Given the description of an element on the screen output the (x, y) to click on. 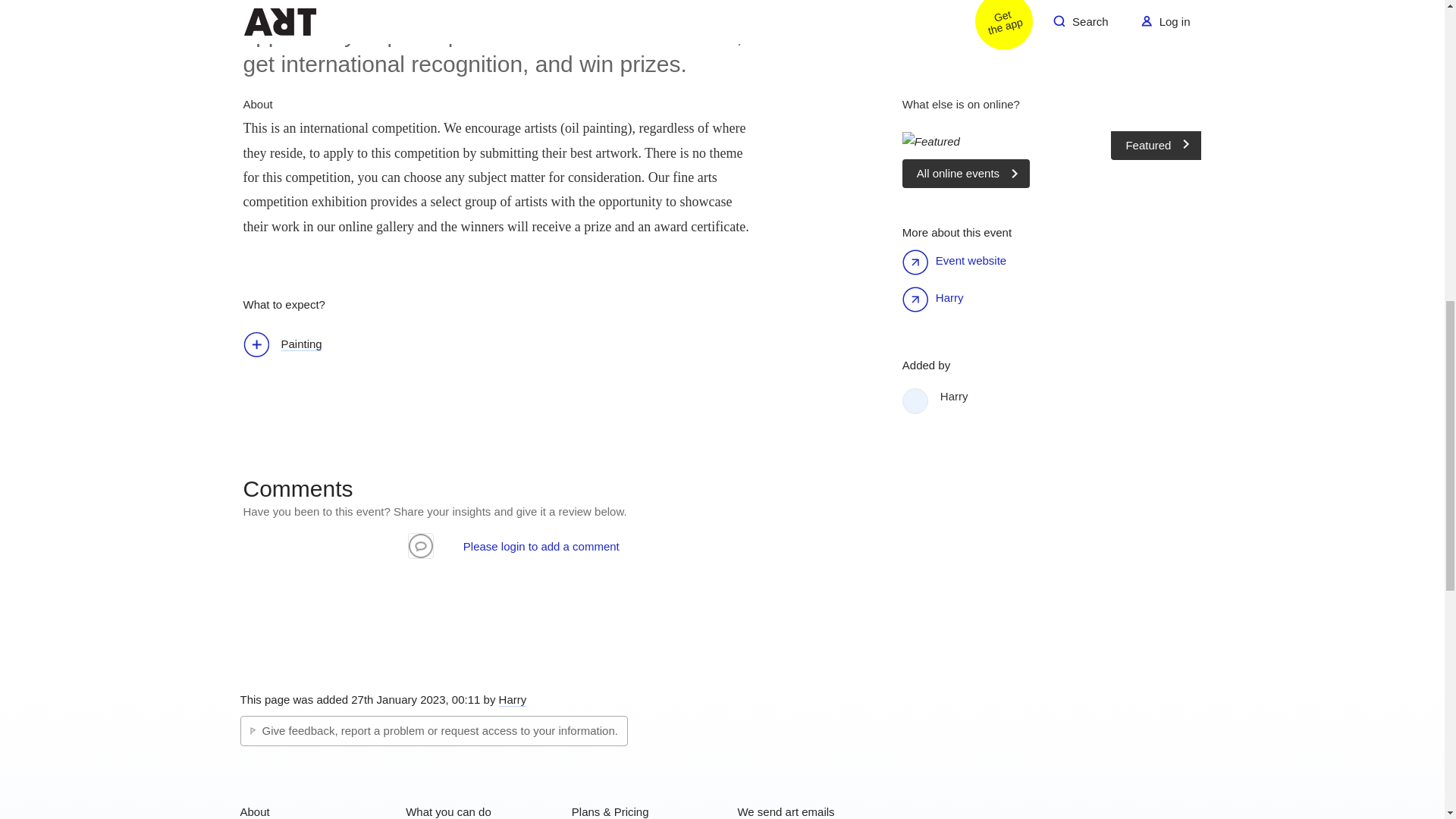
All online events (965, 173)
Please login to add a comment (541, 545)
Featured (1052, 141)
Harry (1071, 396)
Harry (949, 297)
Event website (971, 259)
Painting (289, 345)
